Given the description of an element on the screen output the (x, y) to click on. 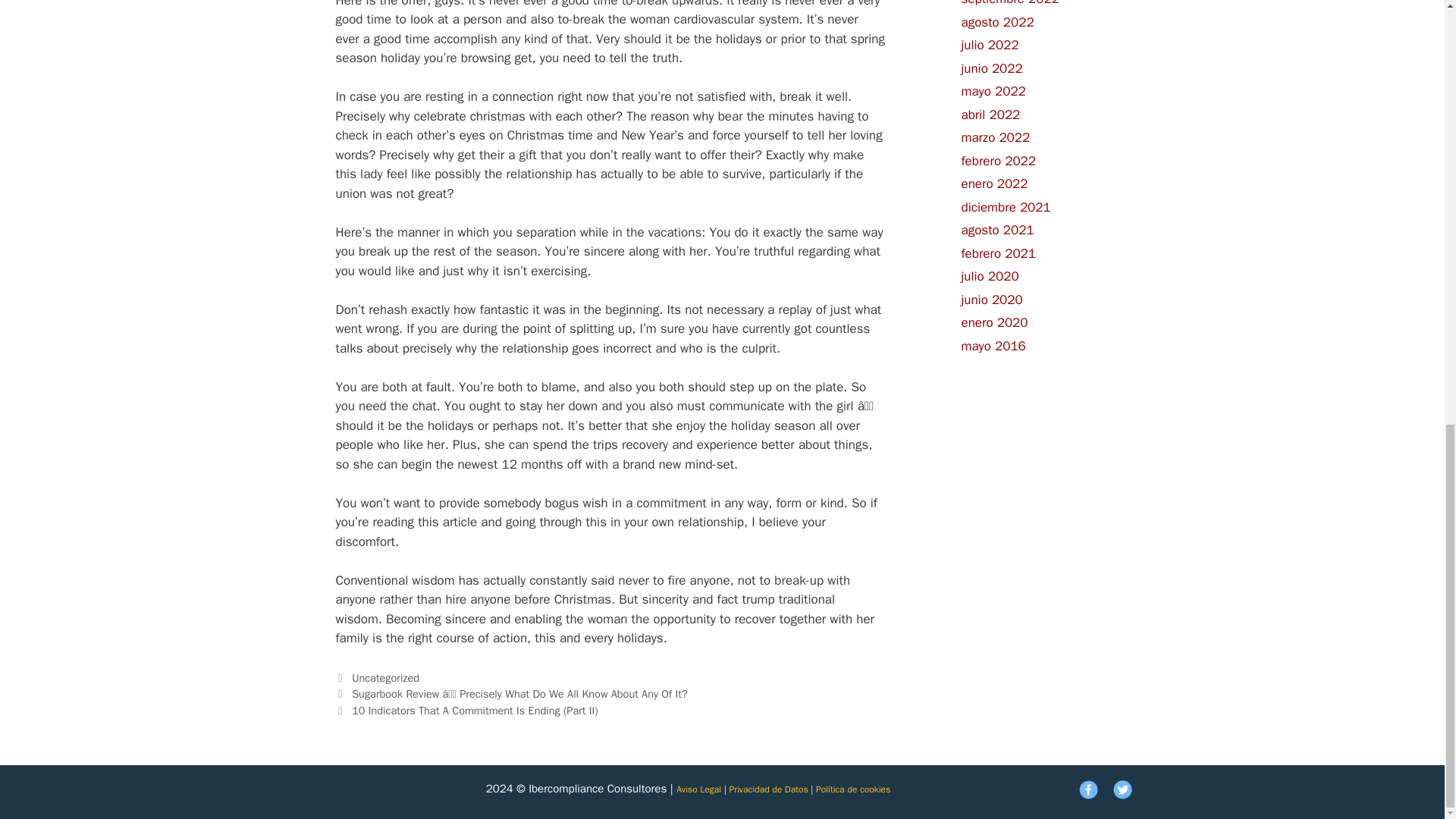
Facebook de Ibercompliance (1087, 795)
Twitter de Ibercompliance (1122, 795)
Uncategorized (385, 677)
